Given the description of an element on the screen output the (x, y) to click on. 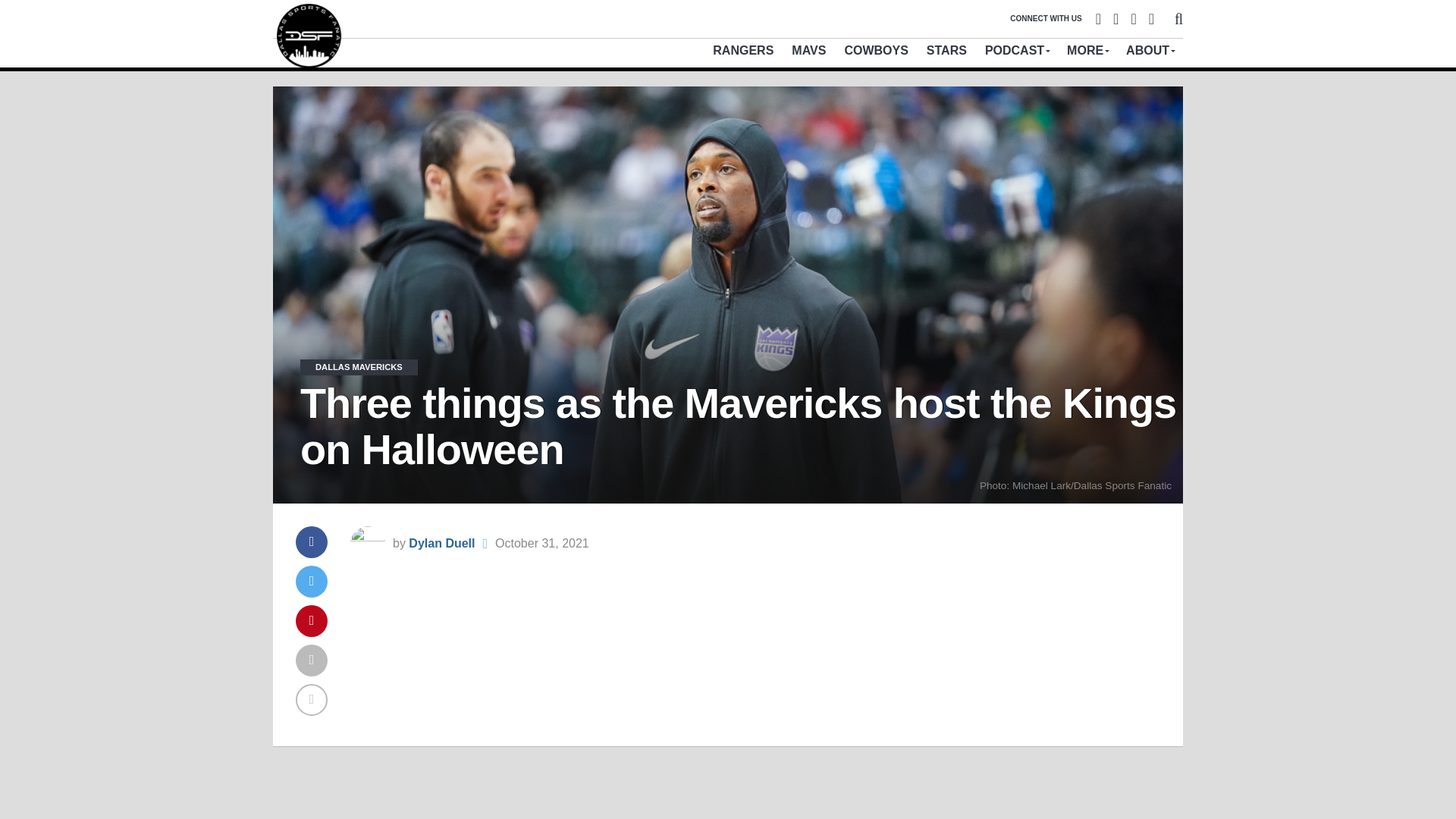
RANGERS (737, 50)
MAVS (803, 50)
Posts by Dylan Duell (435, 543)
